Given the description of an element on the screen output the (x, y) to click on. 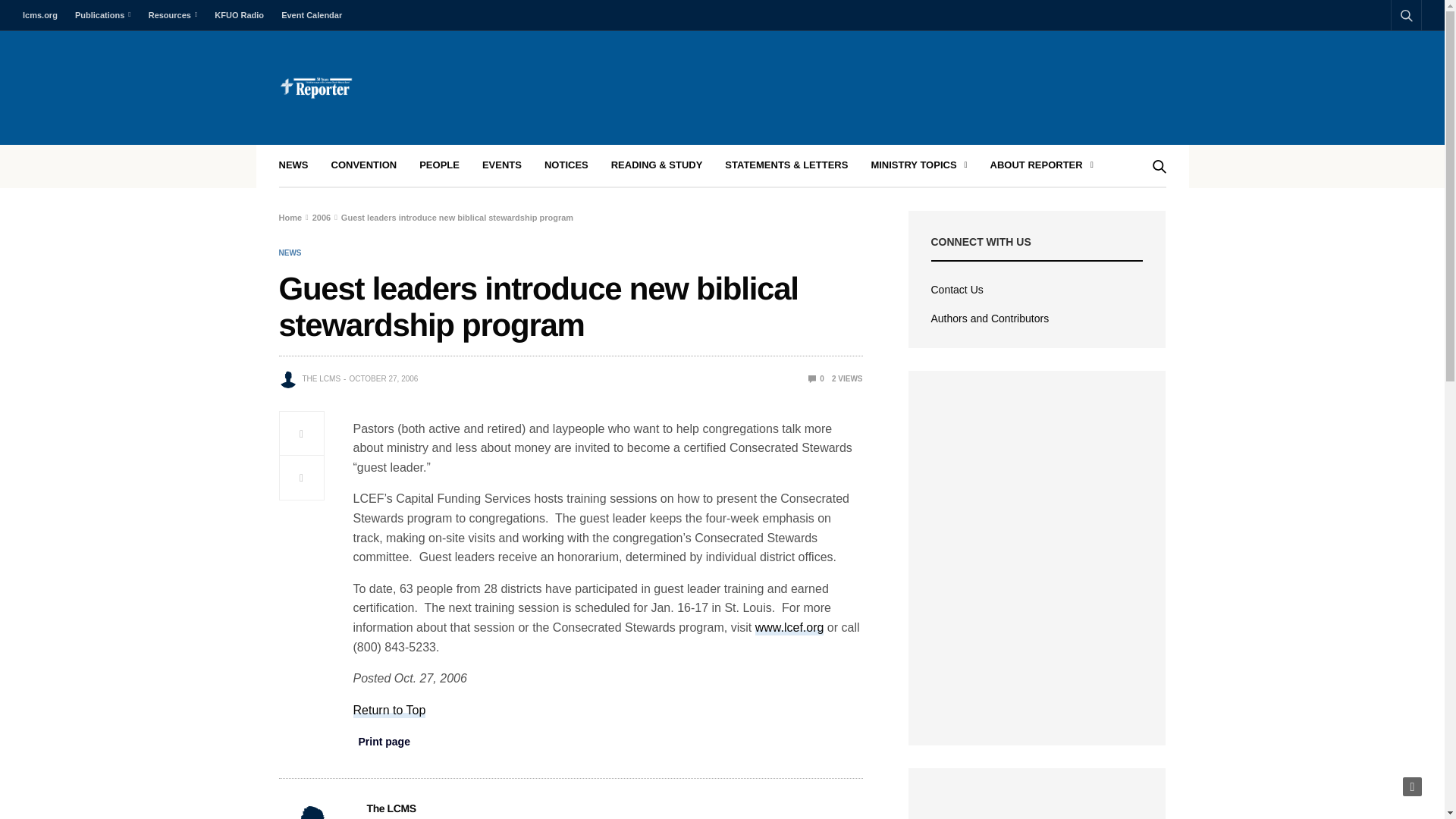
lcms.org (44, 15)
Posts by The LCMS (320, 378)
Publications (102, 15)
Guest leaders introduce new biblical stewardship program (816, 378)
News (290, 253)
